Given the description of an element on the screen output the (x, y) to click on. 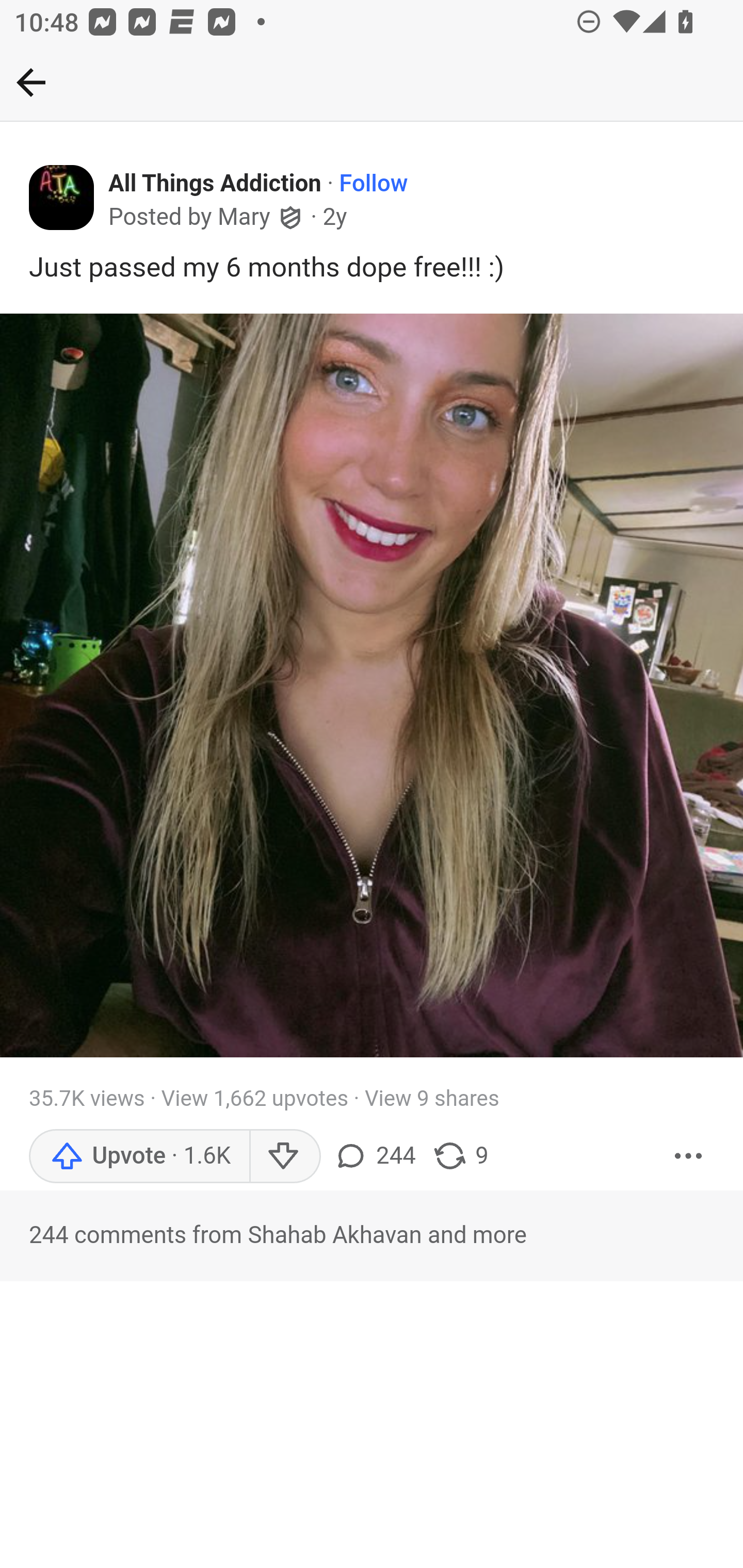
Back (30, 82)
Icon for All Things Addiction (61, 198)
All Things Addiction (215, 183)
Follow (373, 183)
main-qimg-996da2a383f36dc9ab6e16c92879cf83-lq (371, 685)
Upvote (138, 1155)
Downvote (283, 1155)
244 comments (376, 1155)
9 shares (460, 1155)
More (688, 1155)
244 comments from Shahab Akhavan and more (371, 1235)
